Given the description of an element on the screen output the (x, y) to click on. 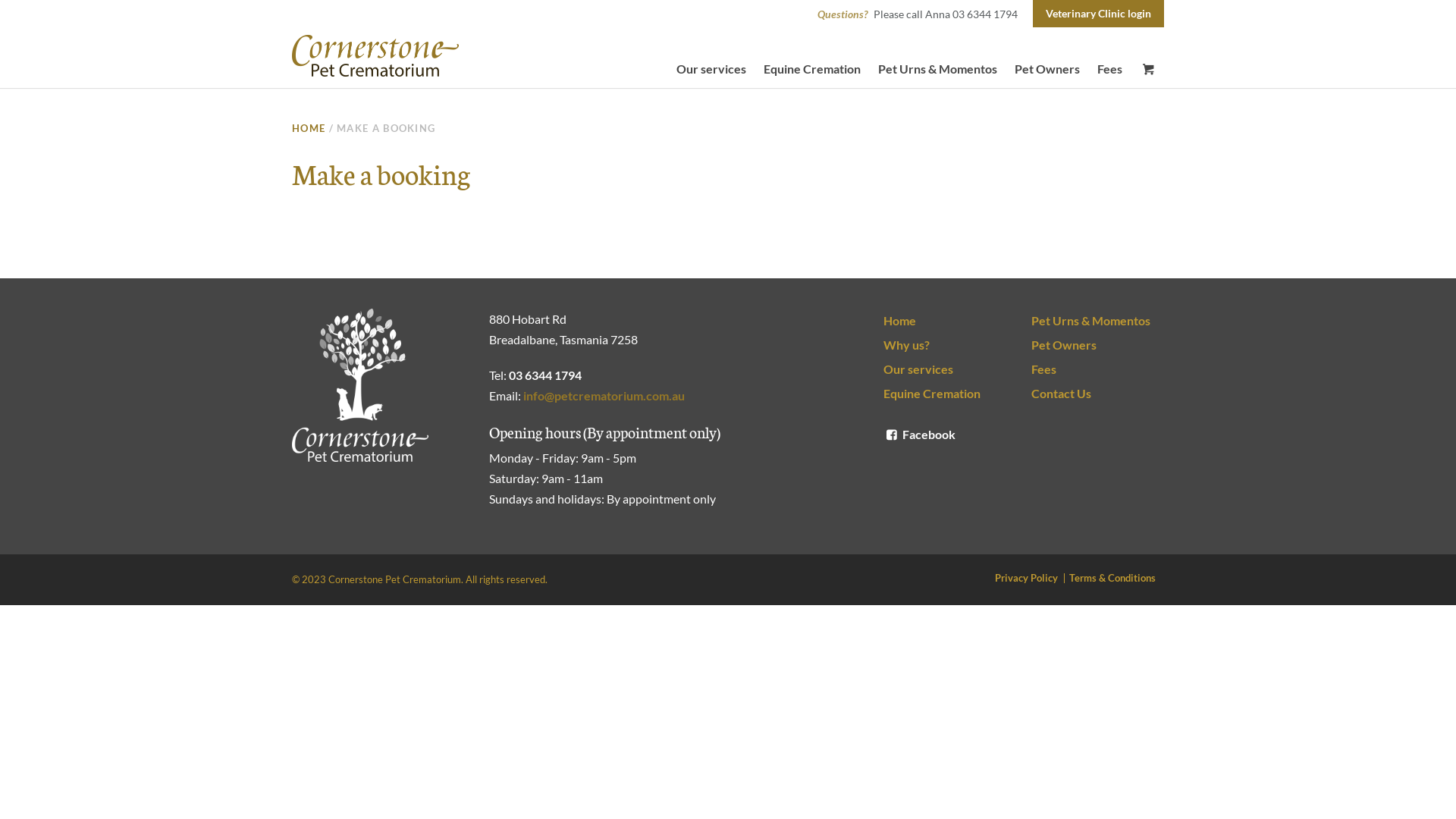
Pet Urns & Momentos Element type: text (937, 69)
Pet Owners Element type: text (1097, 344)
Veterinary Clinic login Element type: text (1098, 13)
Fees Element type: text (1109, 69)
HOME Element type: text (308, 128)
Home Element type: text (949, 320)
Facebook Element type: text (919, 433)
Contact Us Element type: text (1097, 393)
Our services Element type: text (949, 369)
Equine Cremation Element type: text (812, 69)
Fees Element type: text (1097, 369)
Why us? Element type: text (949, 344)
Terms & Conditions Element type: text (1115, 578)
Privacy Policy Element type: text (1029, 578)
Pet Owners Element type: text (1047, 69)
Our services Element type: text (710, 69)
03 6344 1794 Element type: text (544, 374)
Pet Urns & Momentos Element type: text (1097, 320)
Cart Element type: text (1148, 69)
Equine Cremation Element type: text (949, 393)
info@petcrematorium.com.au Element type: text (603, 395)
